Given the description of an element on the screen output the (x, y) to click on. 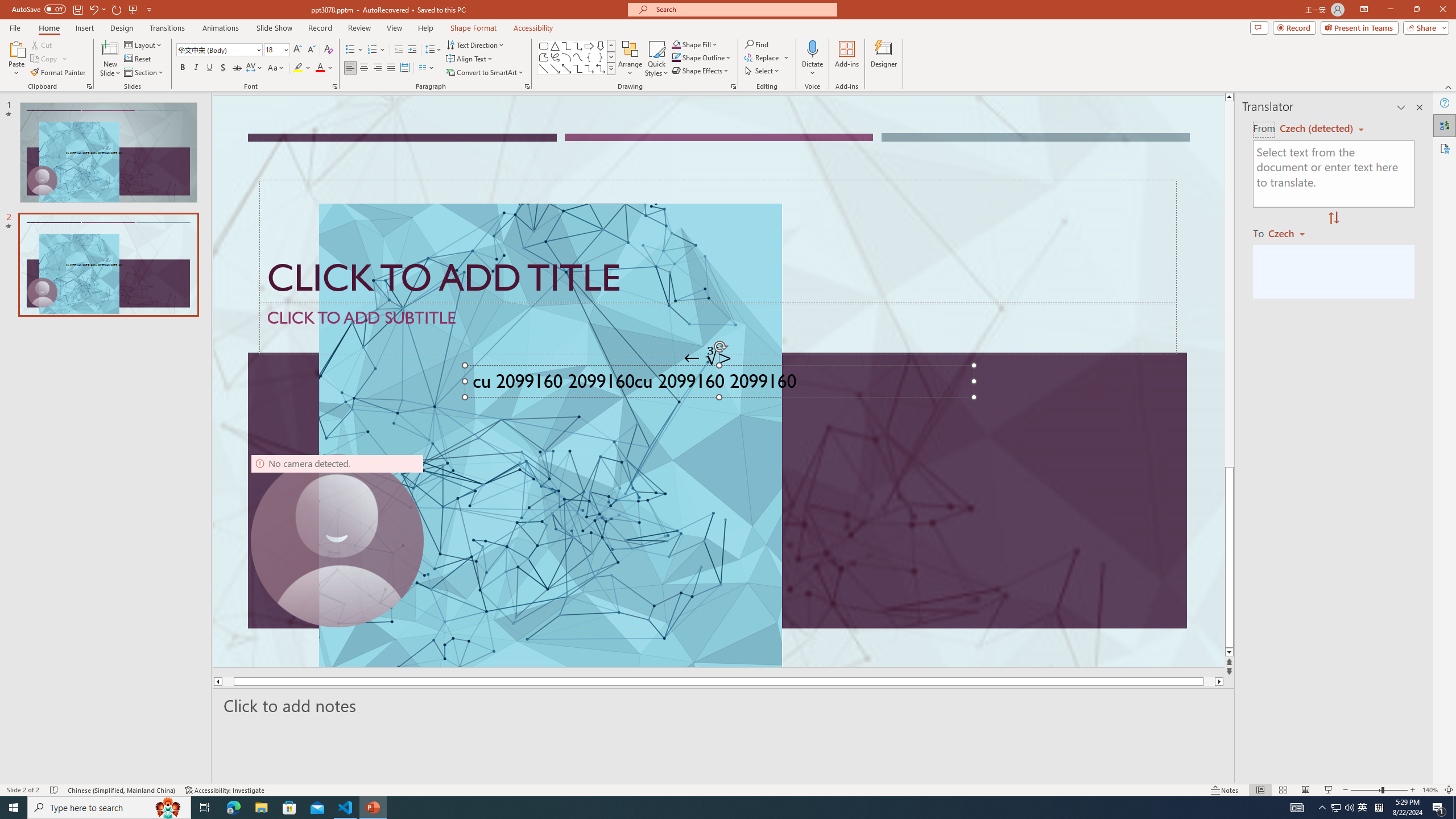
An abstract genetic concept (718, 381)
